Given the description of an element on the screen output the (x, y) to click on. 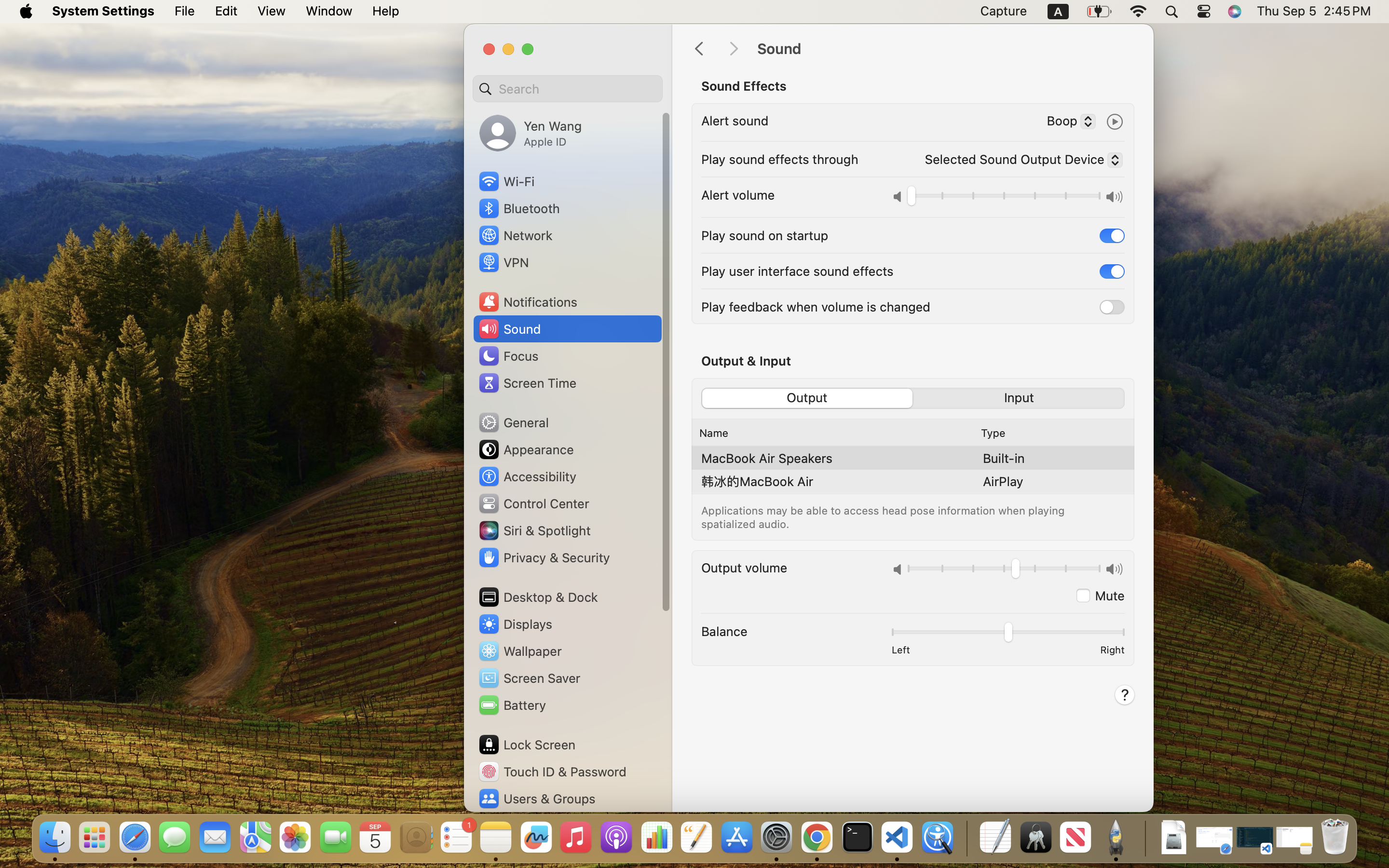
MacBook Air Speakers Element type: AXStaticText (766, 457)
Play sound effects through Element type: AXStaticText (779, 158)
Balance Element type: AXStaticText (724, 630)
0.0 Element type: AXSlider (1003, 197)
韩冰的MacBook Air Element type: AXStaticText (757, 480)
